Given the description of an element on the screen output the (x, y) to click on. 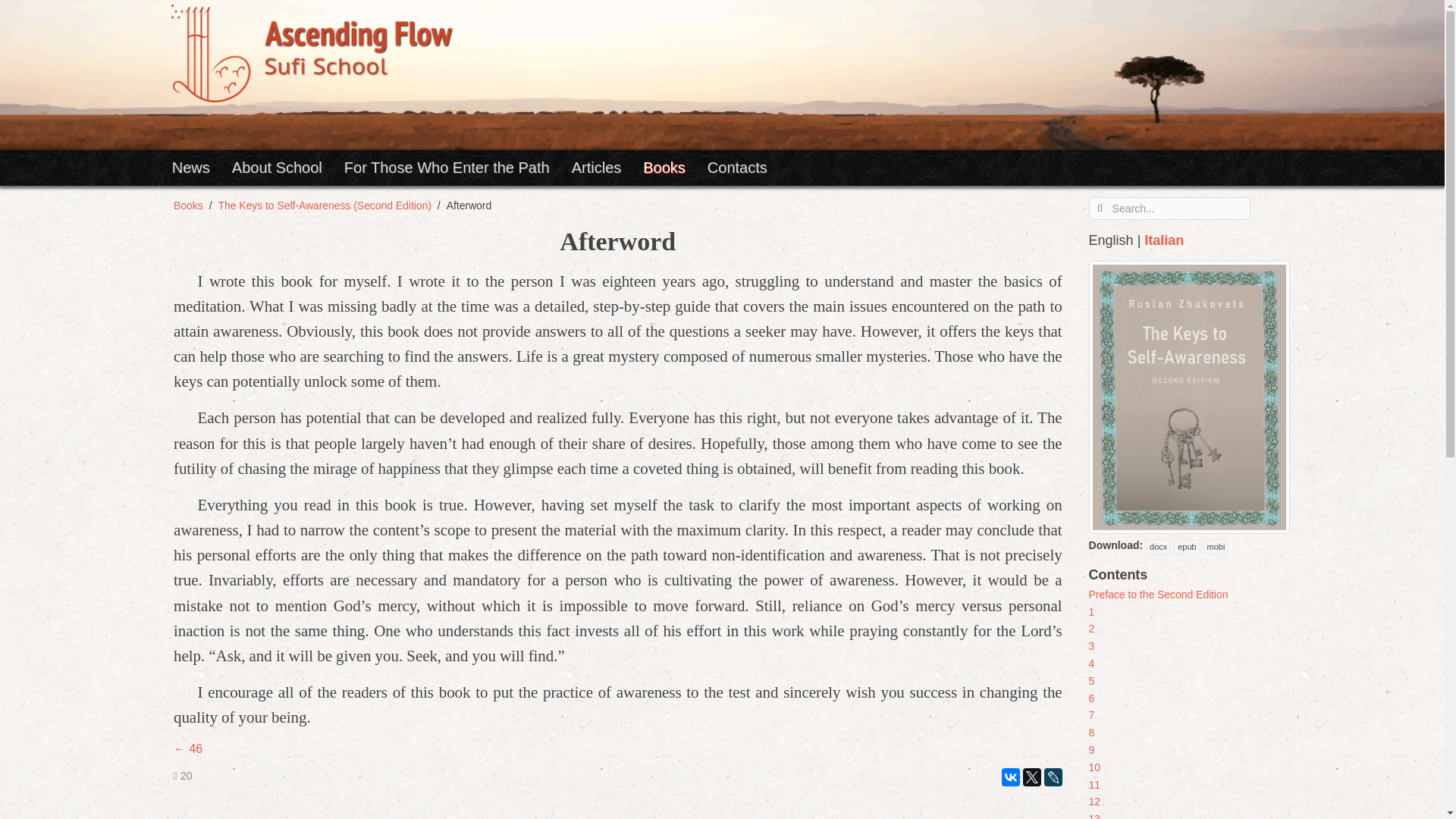
News (201, 167)
LiveJournal (1052, 777)
Articles (608, 167)
epub (1186, 546)
For Those Who Enter the Path (457, 167)
Books (675, 167)
Italian (1163, 240)
Contacts (737, 167)
Twitter (1032, 777)
20 views (182, 775)
docx (1157, 546)
Preface to the Second Edition (1158, 594)
About School (288, 167)
Books (188, 205)
46 (187, 748)
